Given the description of an element on the screen output the (x, y) to click on. 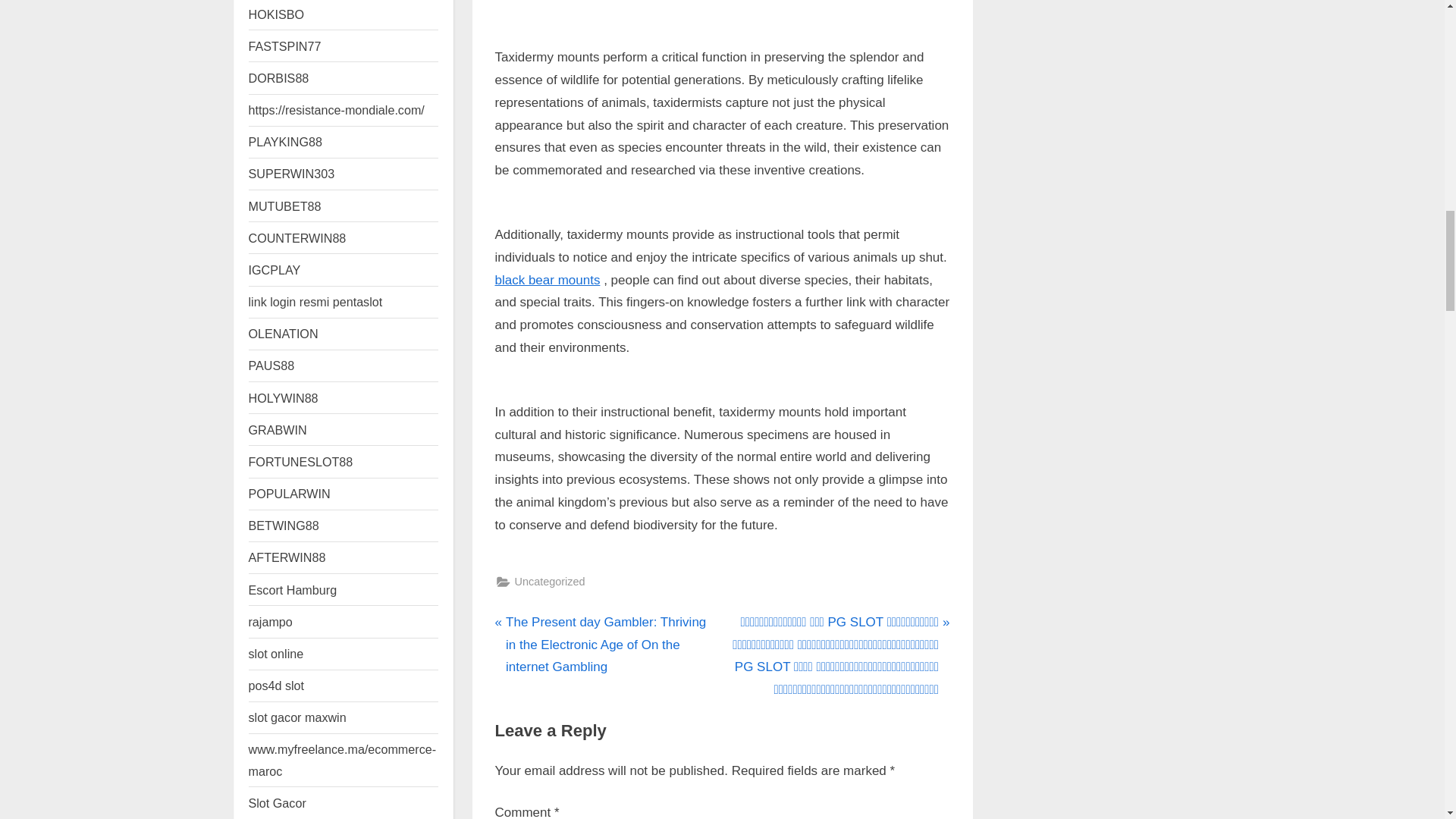
black bear mounts (547, 279)
Uncategorized (549, 581)
